Given the description of an element on the screen output the (x, y) to click on. 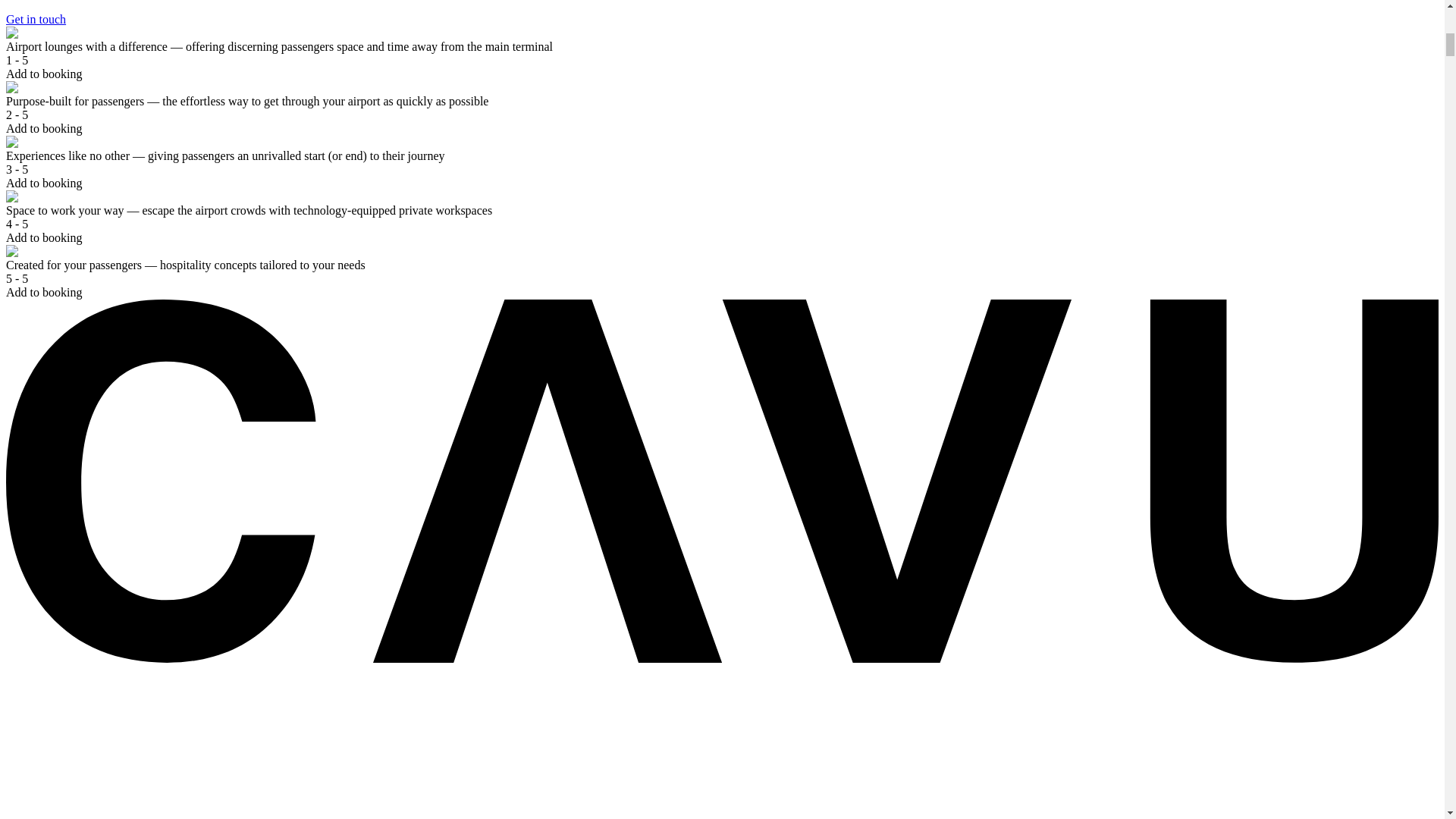
Get in touch (278, 19)
